Given the description of an element on the screen output the (x, y) to click on. 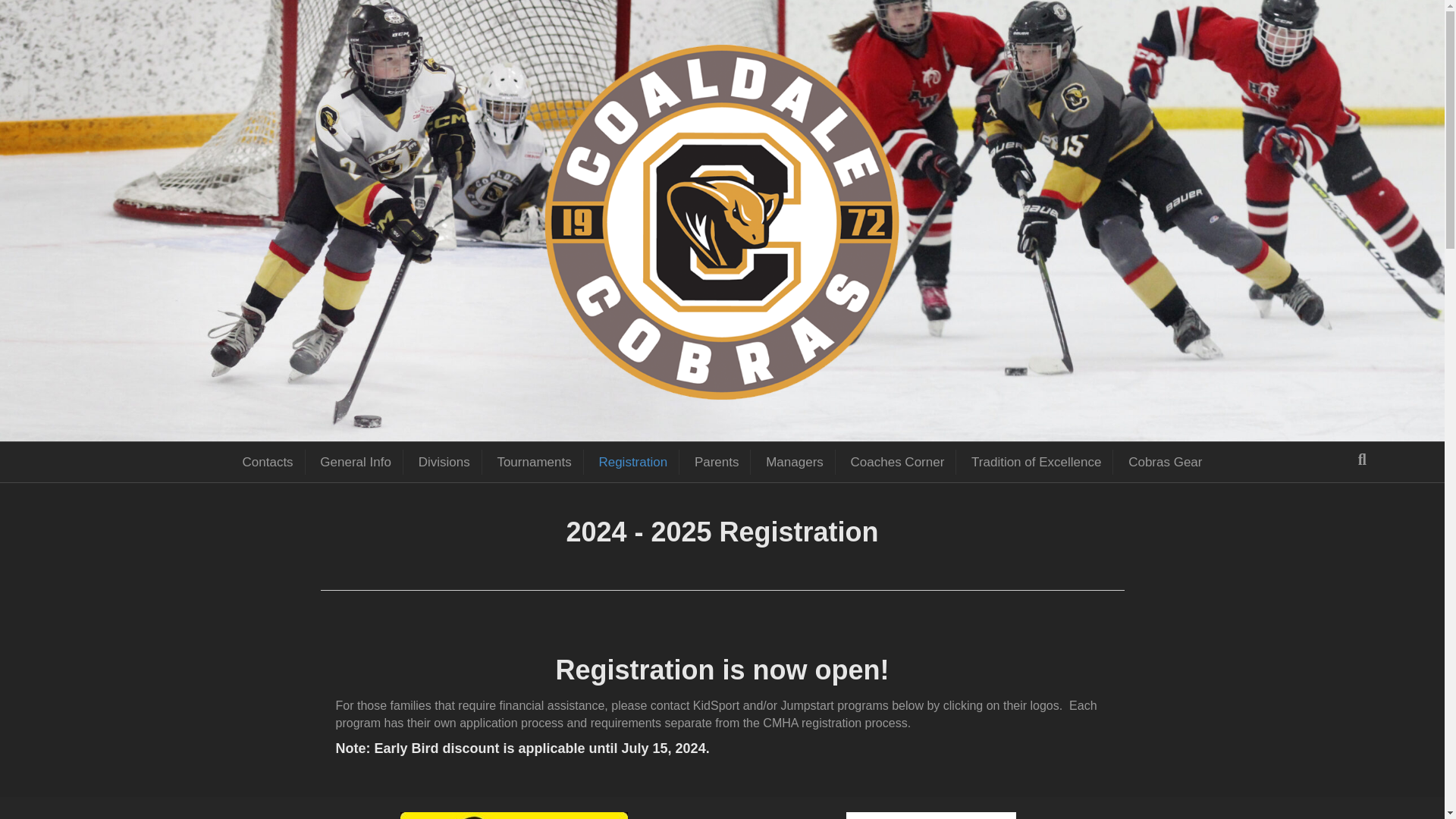
Tournaments (533, 461)
Registration (632, 461)
Coaches Corner (898, 461)
General Info (355, 461)
Managers (794, 461)
jumpstart (930, 815)
Cobras Gear (1164, 461)
Parents (716, 461)
Tradition of Excellence (1036, 461)
kidsport-1-300x117 (513, 815)
Divisions (444, 461)
Contacts (268, 461)
